Given the description of an element on the screen output the (x, y) to click on. 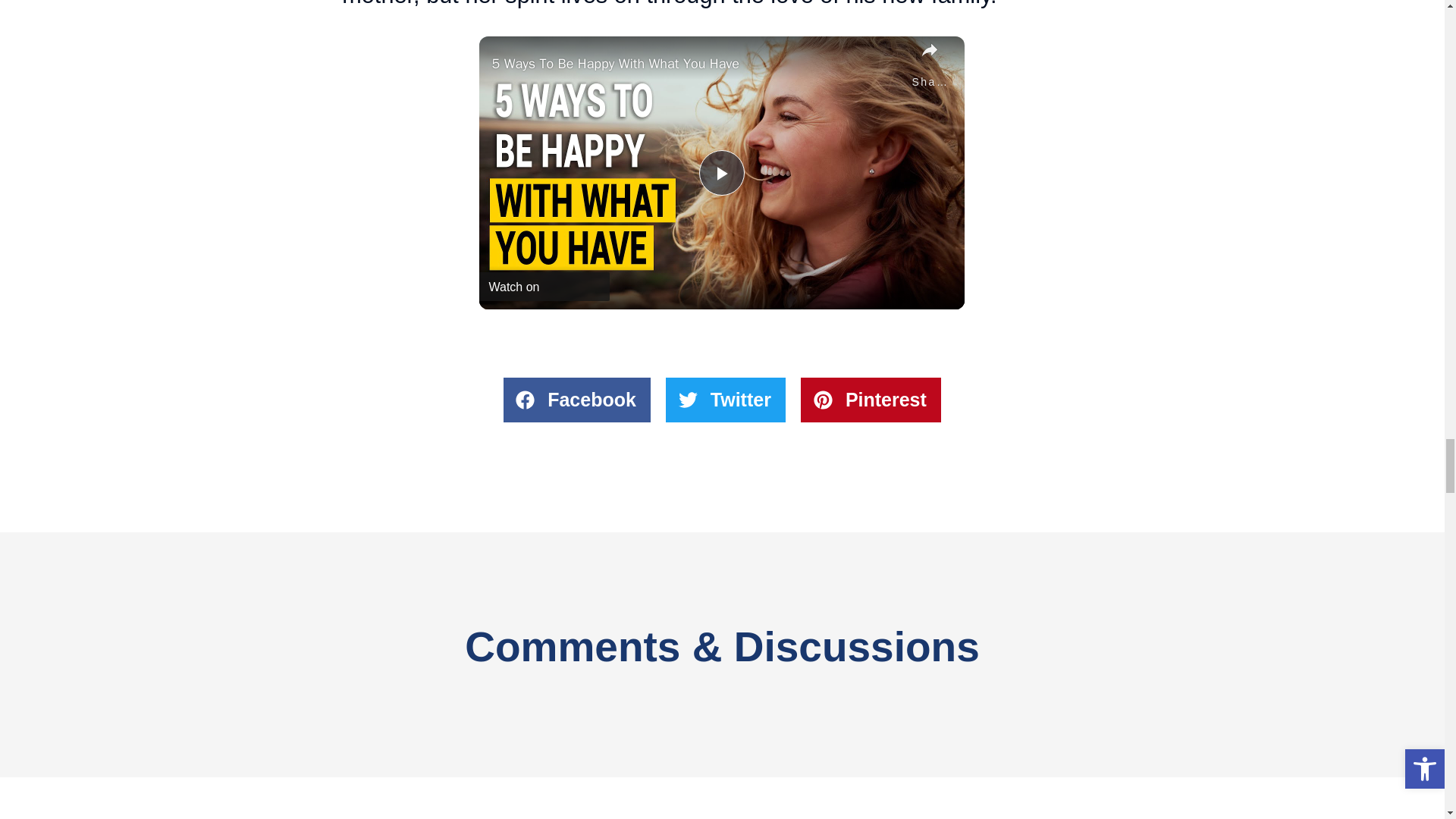
Play Video (721, 172)
